Given the description of an element on the screen output the (x, y) to click on. 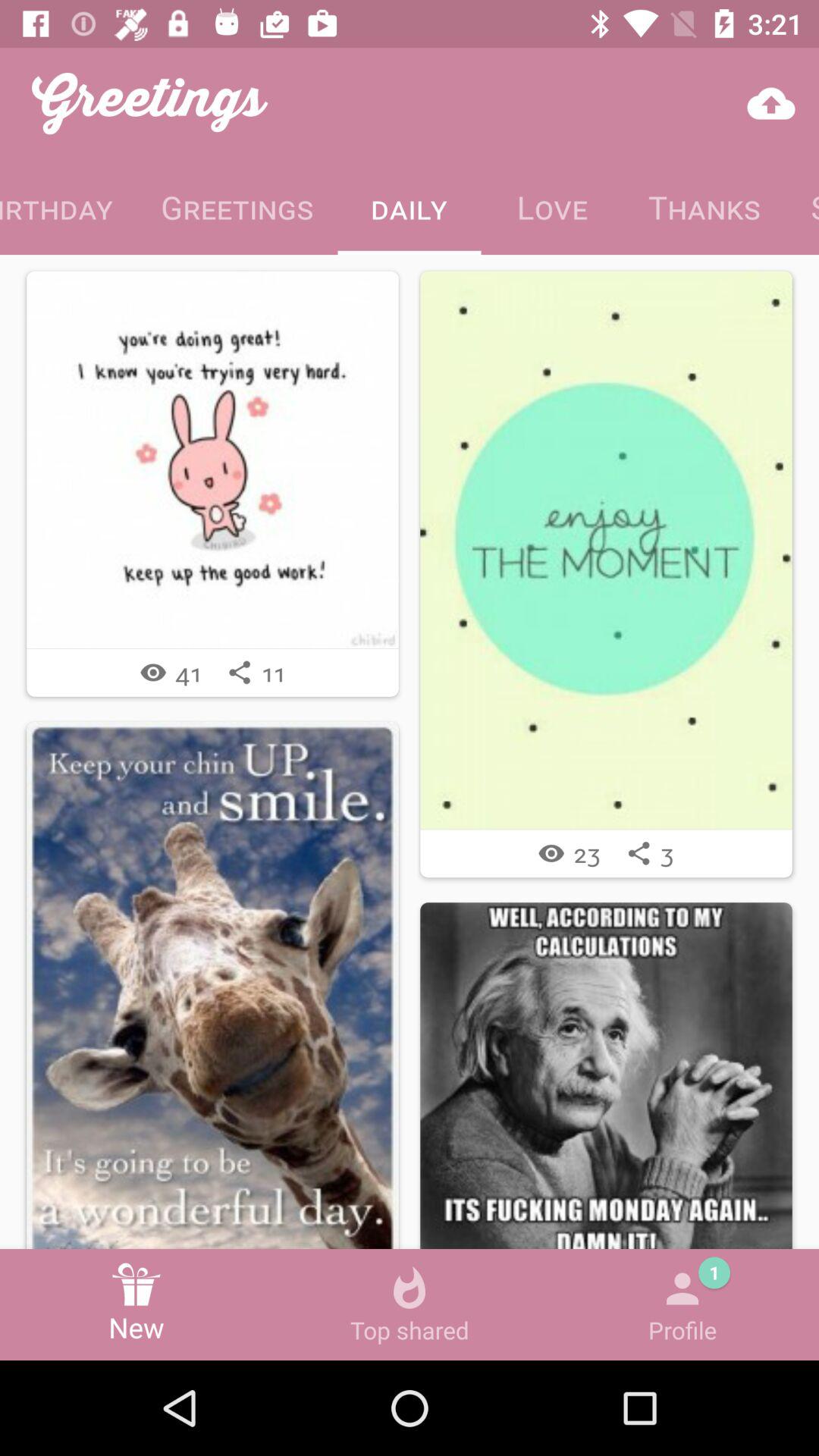
click on the icon above top shared at the bottom of the web page (409, 1289)
